Given the description of an element on the screen output the (x, y) to click on. 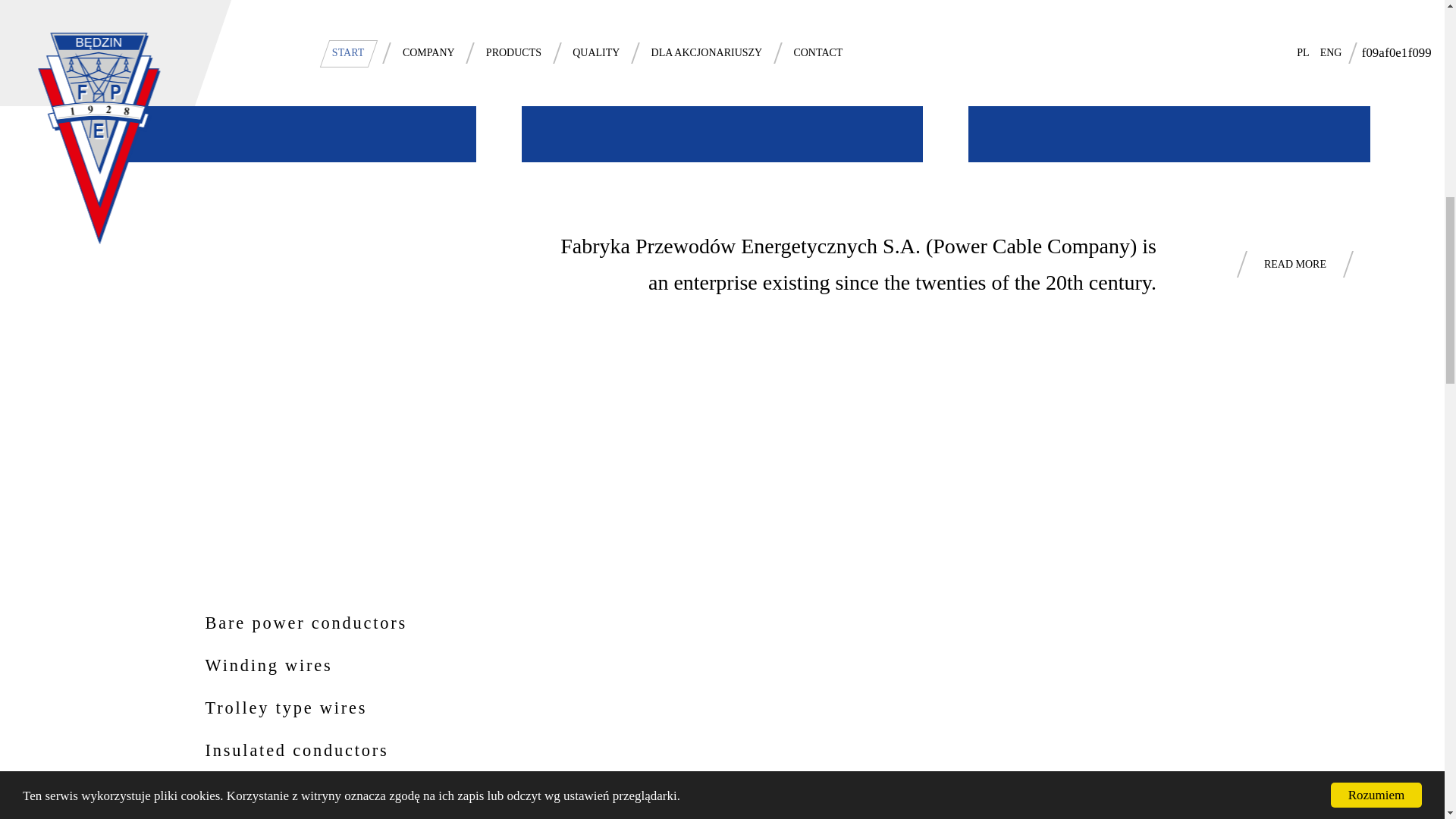
READ MORE (1294, 264)
